Given the description of an element on the screen output the (x, y) to click on. 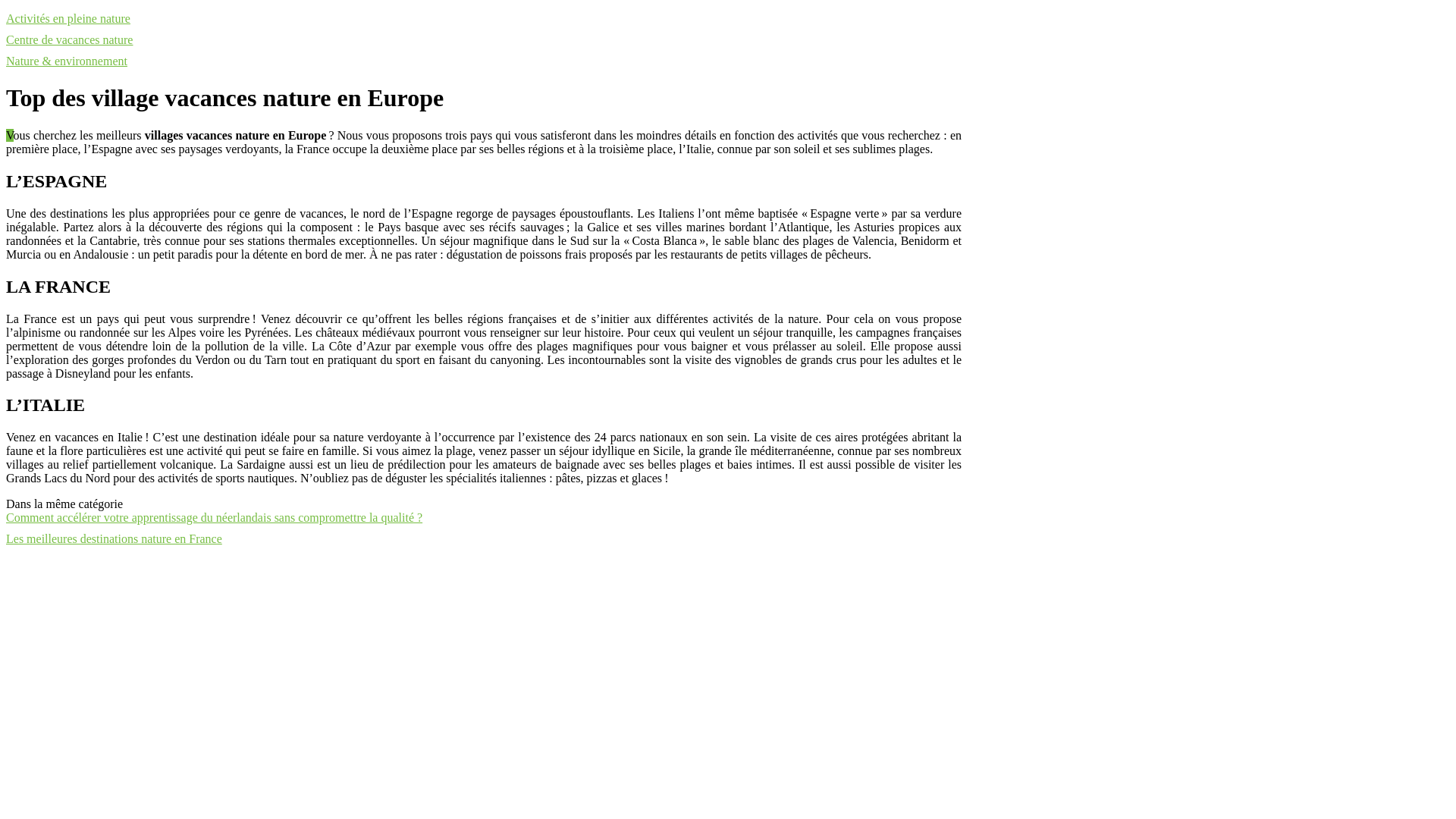
Centre de vacances nature Element type: text (69, 39)
Nature & environnement Element type: text (66, 60)
Les meilleures destinations nature en France Element type: text (114, 538)
